Given the description of an element on the screen output the (x, y) to click on. 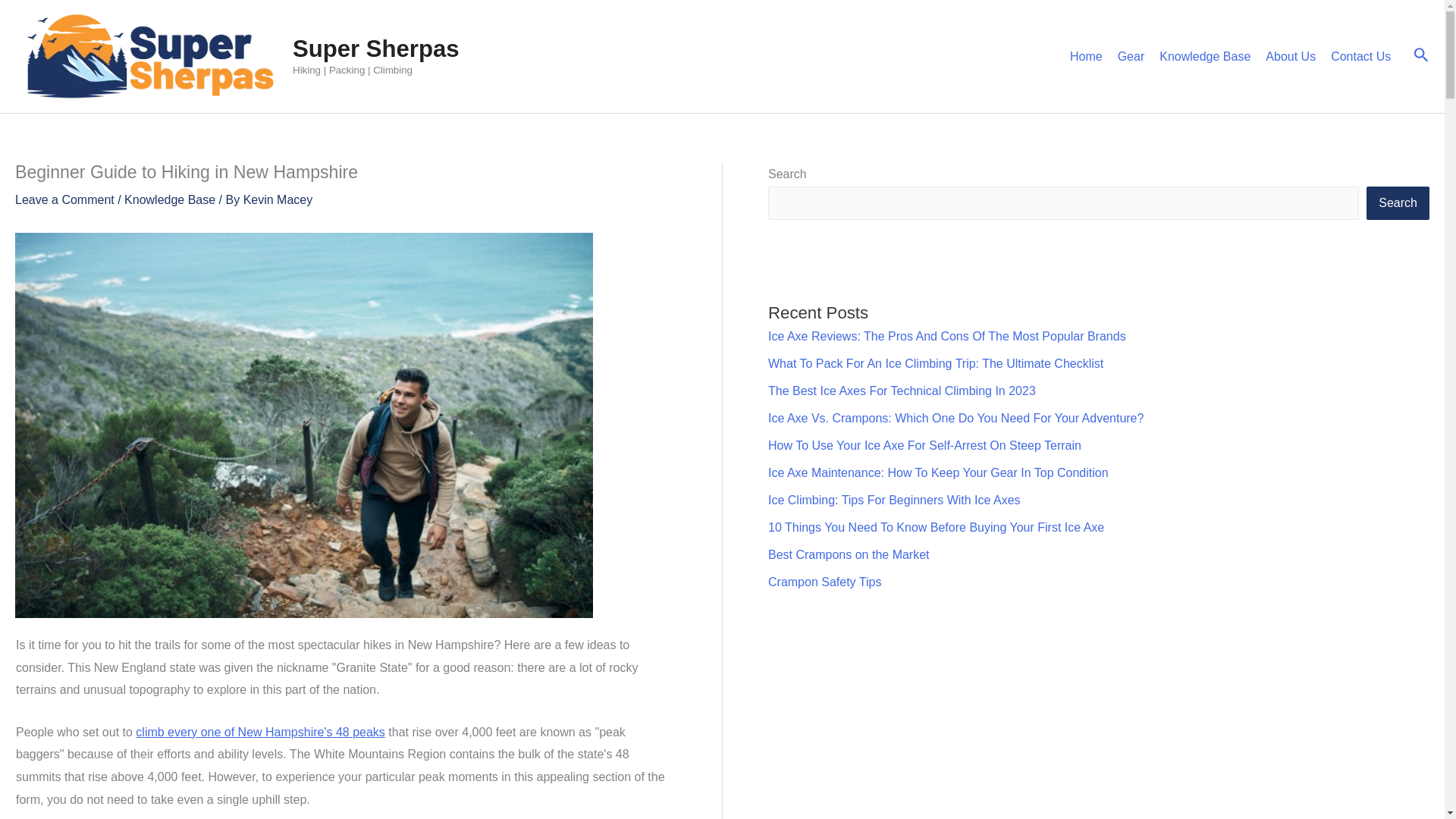
Leave a Comment (64, 199)
Knowledge Base (1204, 56)
Contact Us (1360, 56)
View all posts by Kevin Macey (278, 199)
Knowledge Base (169, 199)
Kevin Macey (278, 199)
climb every one of New Hampshire's 48 peaks (260, 731)
About Us (1290, 56)
Super Sherpas (376, 49)
